Given the description of an element on the screen output the (x, y) to click on. 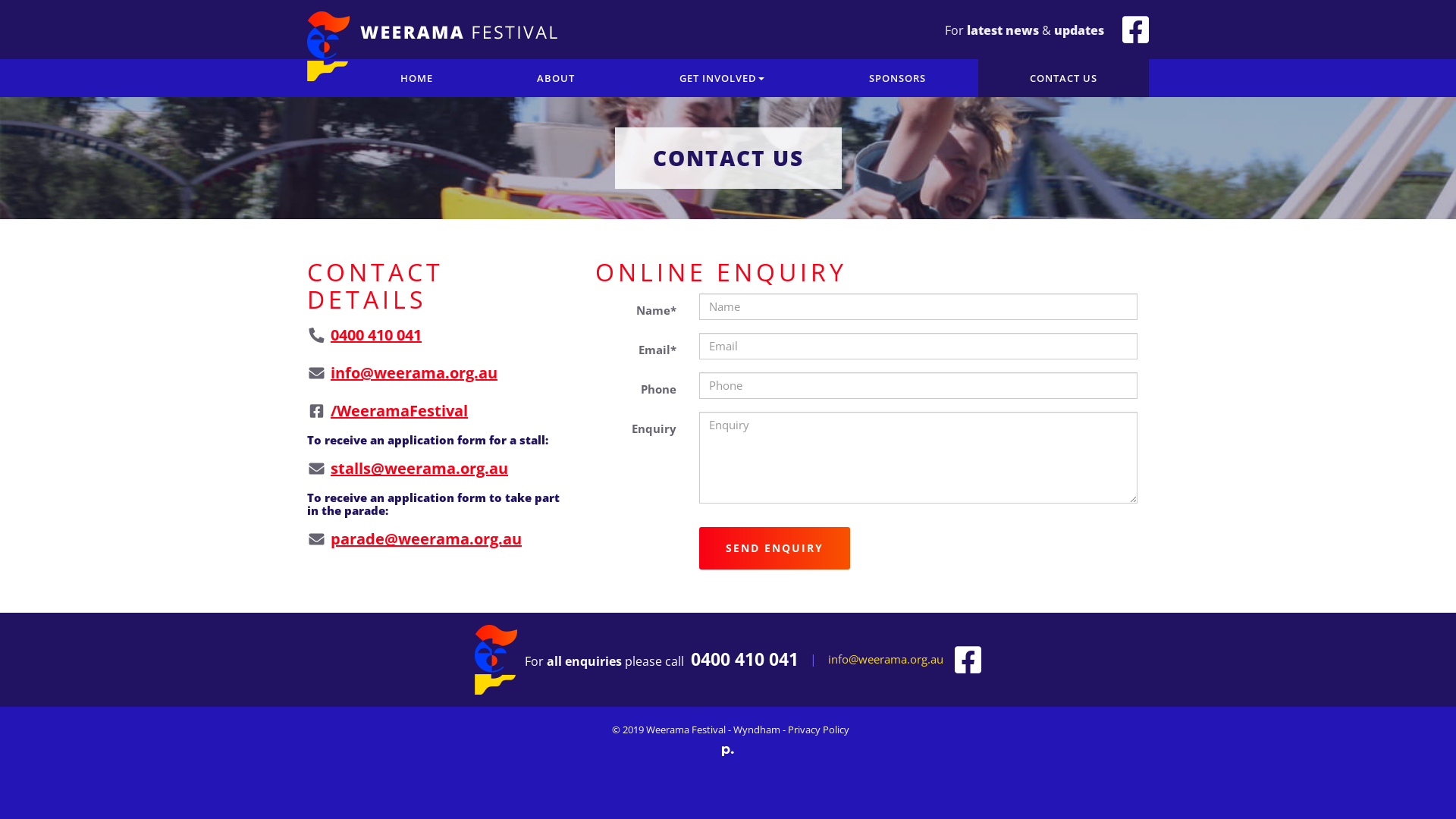
Privacy Policy Element type: text (817, 729)
HOME Element type: text (416, 78)
ABOUT Element type: text (556, 78)
Send Enquiry Element type: text (774, 548)
parade@weerama.org.au Element type: text (425, 538)
SPONSORS Element type: text (897, 78)
info@weerama.org.au Element type: text (413, 372)
/WeeramaFestival Element type: text (398, 410)
stalls@weerama.org.au Element type: text (419, 468)
0400 410 041 Element type: text (375, 334)
0400 410 041 Element type: text (744, 658)
info@weerama.org.au Element type: text (885, 658)
GET INVOLVED Element type: text (721, 78)
CONTACT US Element type: text (1063, 78)
